Given the description of an element on the screen output the (x, y) to click on. 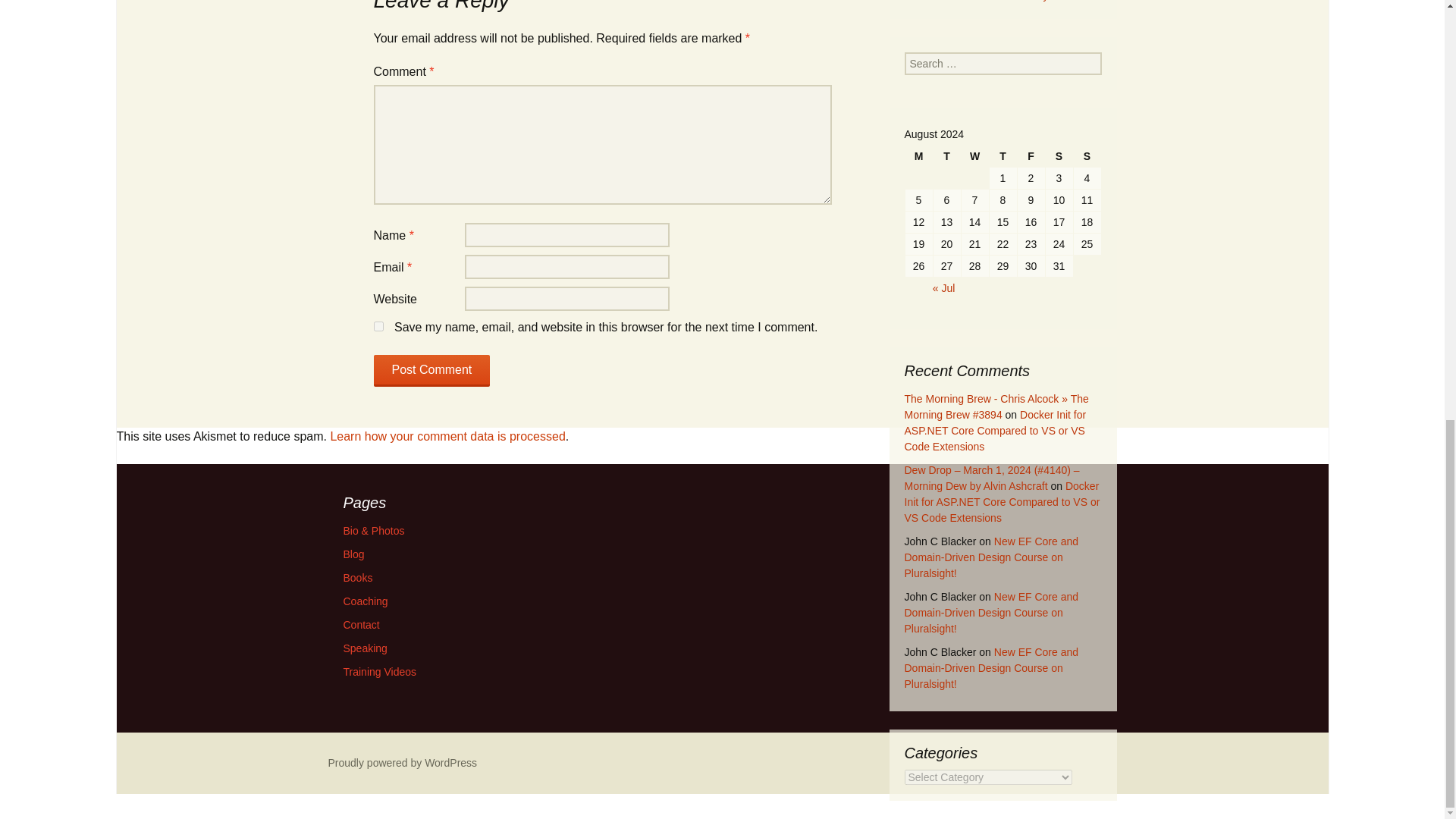
Saturday (1058, 156)
Learn how your comment data is processed (447, 436)
Thursday (1002, 156)
Post Comment (430, 370)
Post Comment (430, 370)
Sunday (1087, 156)
Friday (1031, 156)
Monday (919, 156)
Tuesday (946, 156)
Wednesday (974, 156)
